Given the description of an element on the screen output the (x, y) to click on. 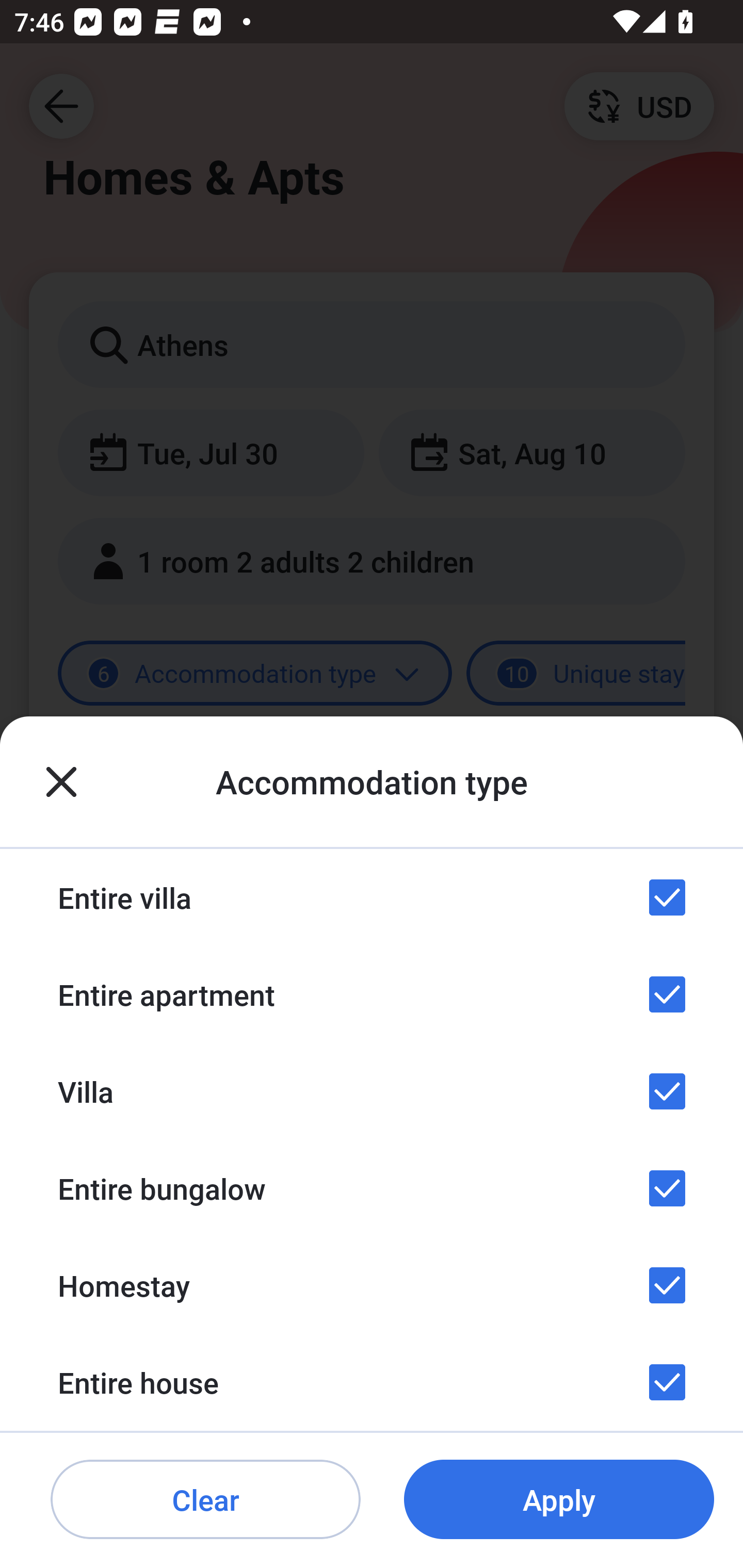
Entire villa (371, 897)
Entire apartment (371, 994)
Villa (371, 1091)
Entire bungalow (371, 1188)
Homestay (371, 1284)
Entire house (371, 1382)
Clear (205, 1499)
Apply (559, 1499)
